Given the description of an element on the screen output the (x, y) to click on. 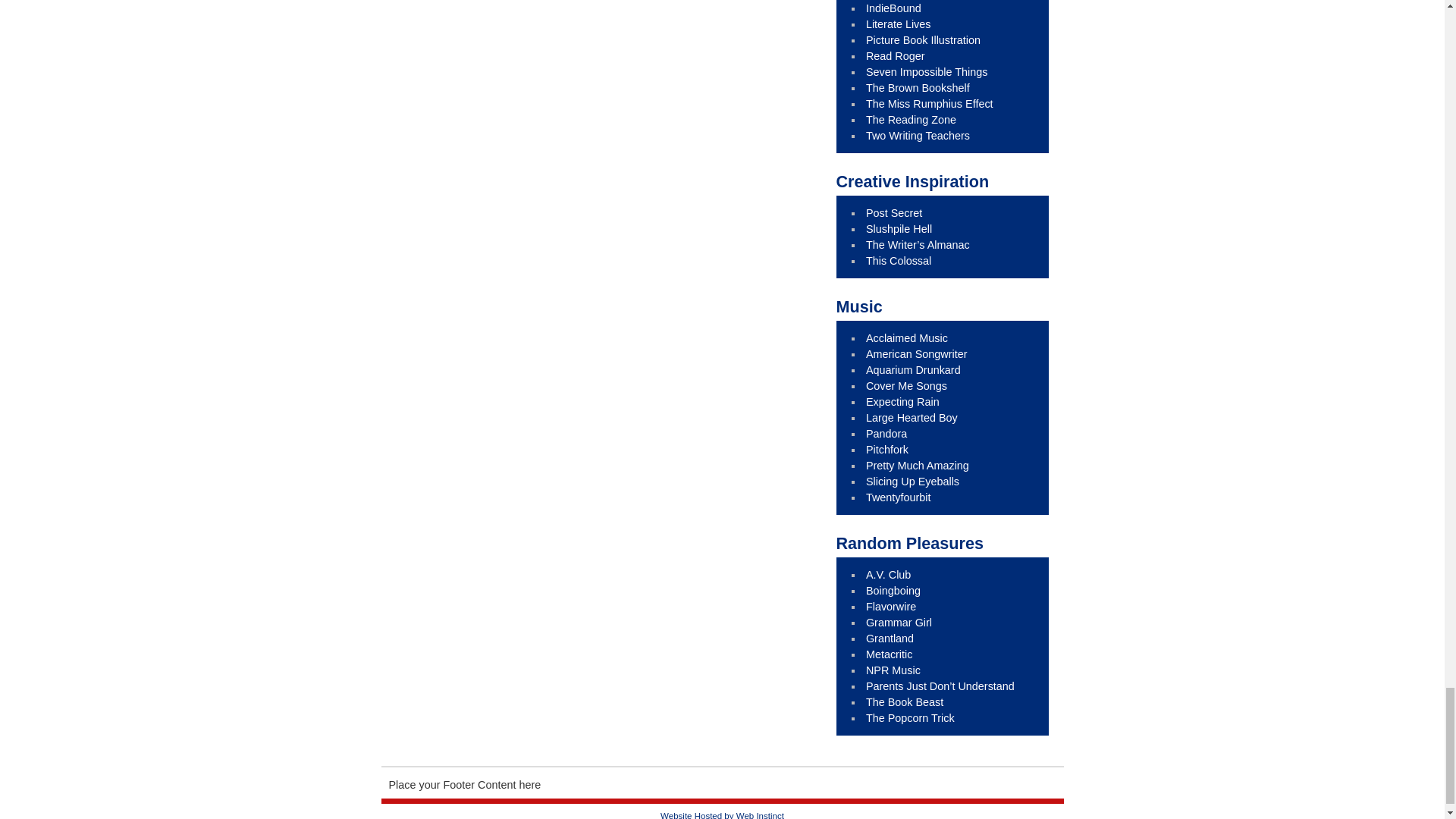
Quick. Lively. Beautiful. Artistic. Fun. (922, 39)
Book News and Recommendations (893, 8)
